Given the description of an element on the screen output the (x, y) to click on. 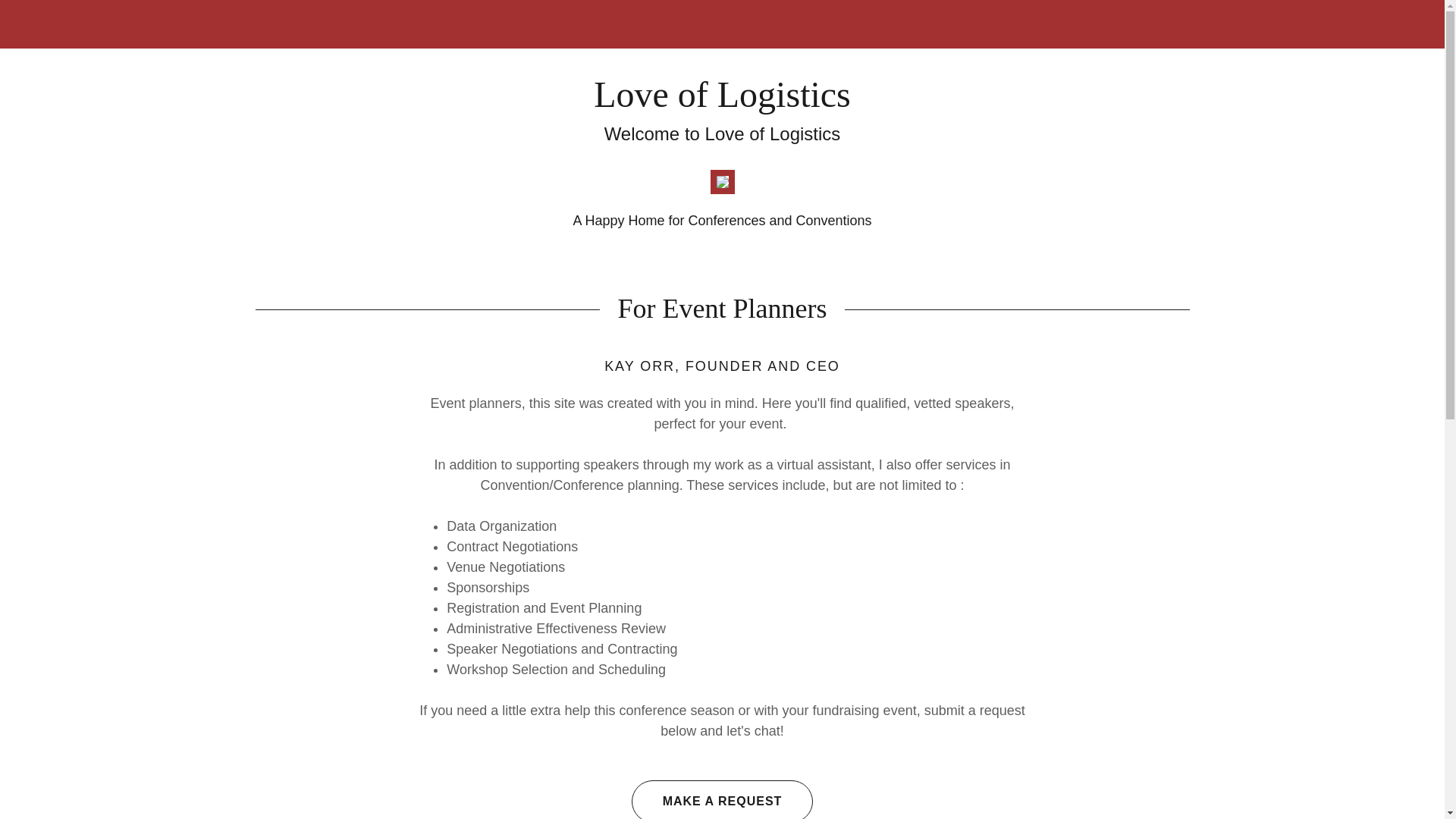
Love of Logistics  (722, 102)
MAKE A REQUEST (722, 799)
Love of Logistics (722, 102)
